Given the description of an element on the screen output the (x, y) to click on. 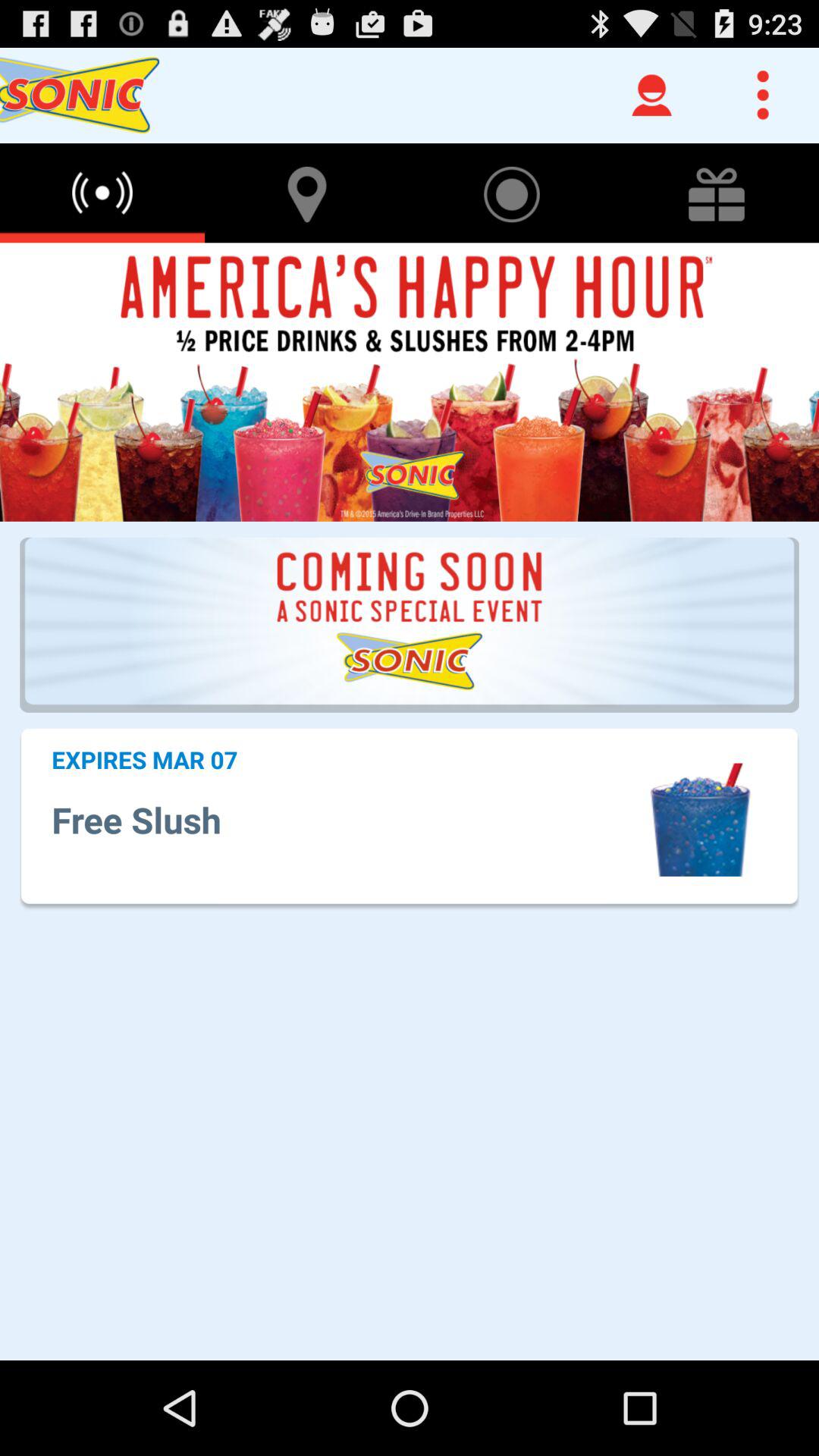
flip until expires mar 07 app (144, 759)
